Given the description of an element on the screen output the (x, y) to click on. 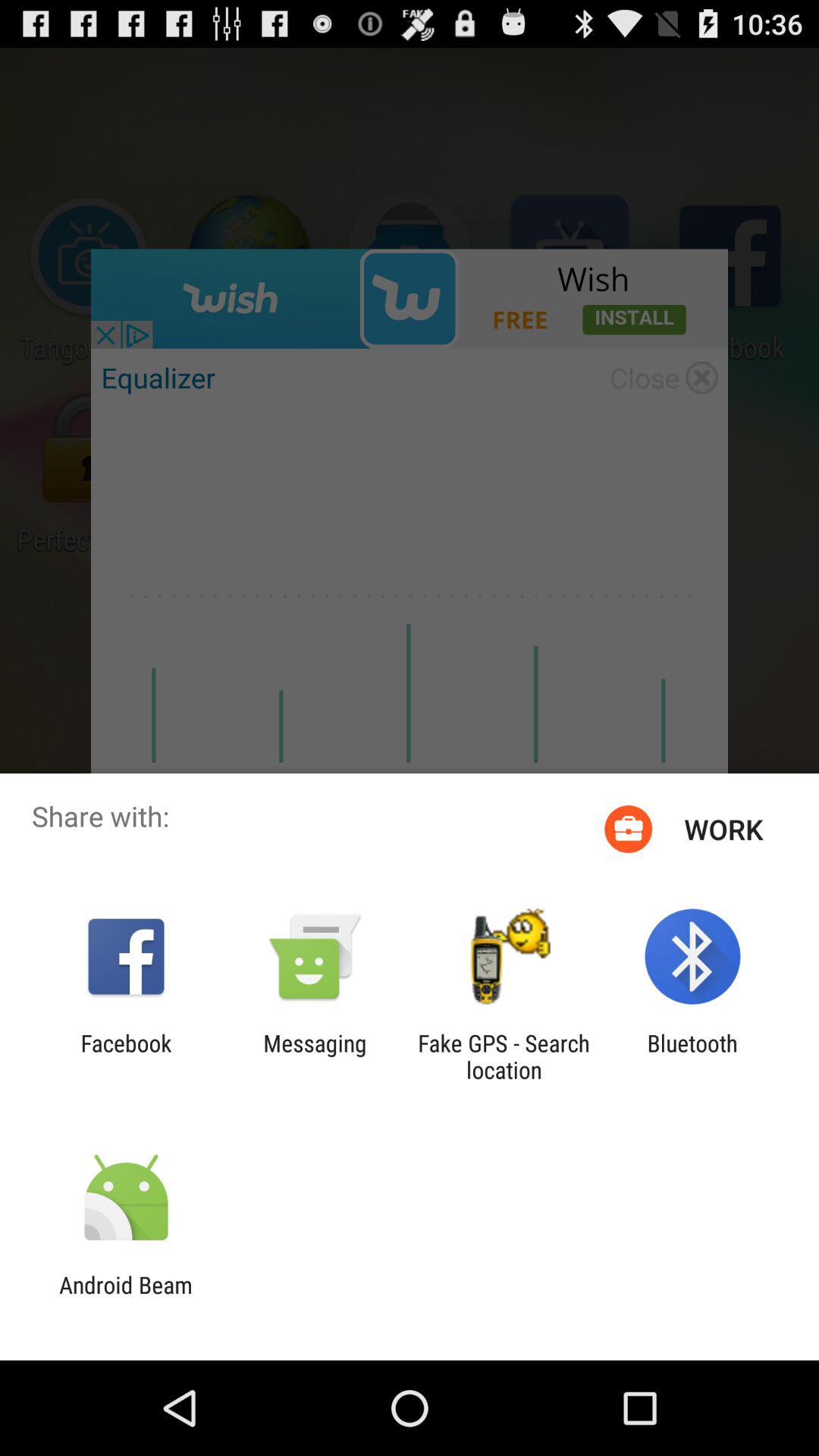
choose the app next to bluetooth item (503, 1056)
